Given the description of an element on the screen output the (x, y) to click on. 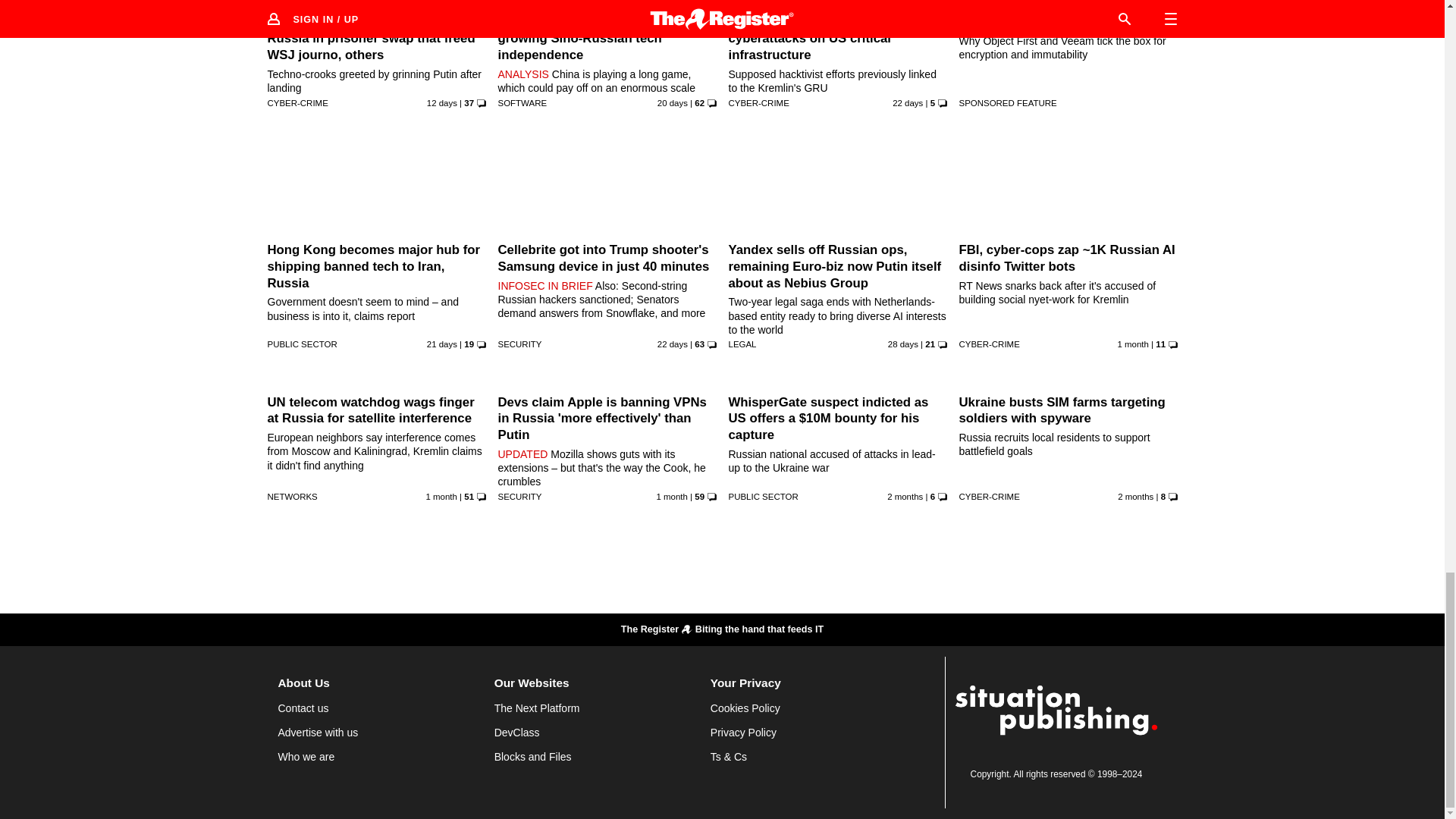
2 Jul 2024 18:26 (441, 496)
24 Jul 2024 13:3 (672, 102)
22 Jul 2024 3:44 (672, 343)
2 Aug 2024 0:50 (441, 102)
16 Jul 2024 5:33 (903, 343)
22 Jul 2024 12:2 (907, 102)
23 Jul 2024 6:44 (441, 343)
9 Jul 2024 23:35 (1132, 343)
5 Jul 2024 21:27 (671, 496)
